Given the description of an element on the screen output the (x, y) to click on. 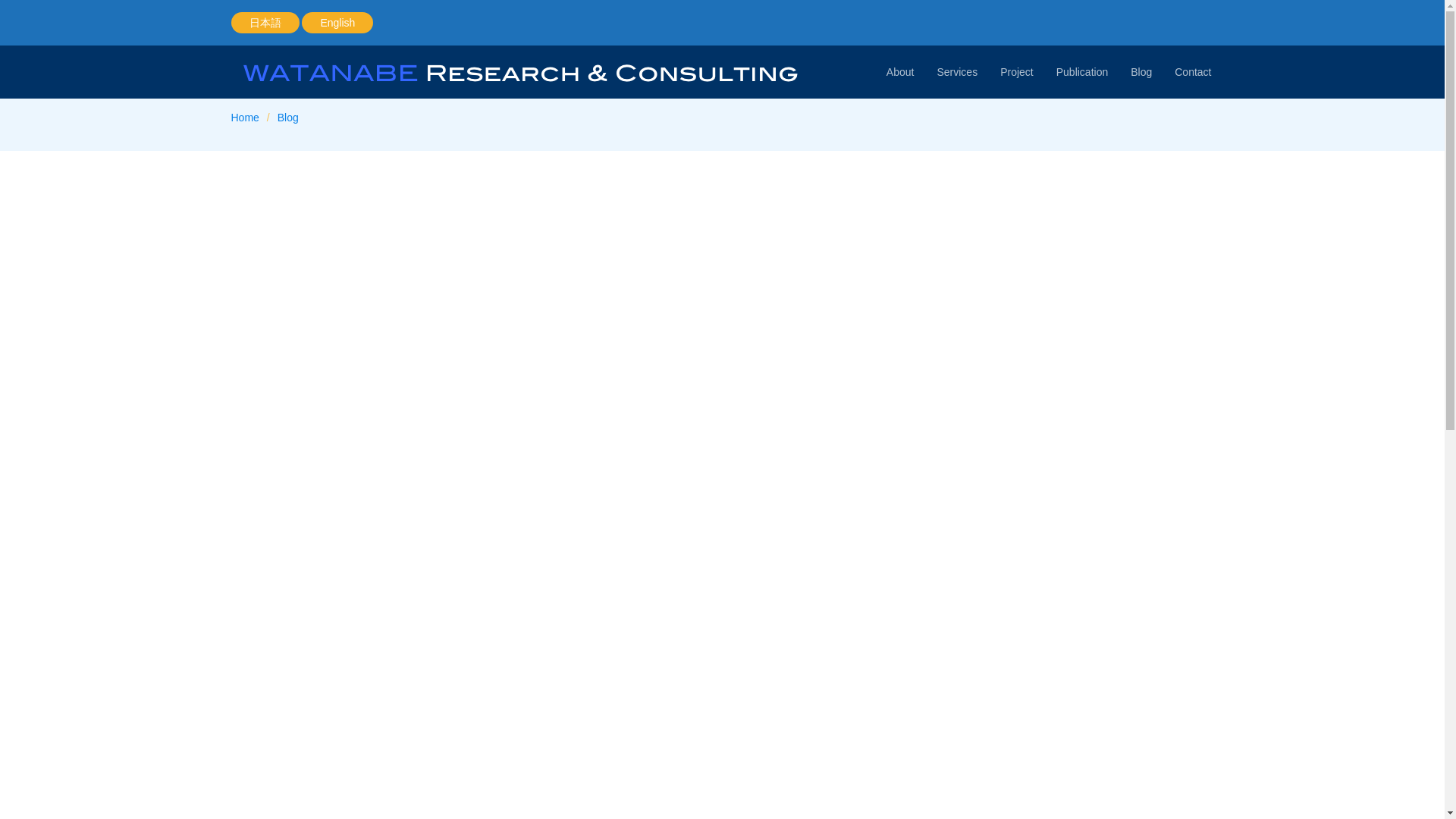
English (336, 22)
Search (961, 345)
Contact (1192, 71)
About (900, 71)
Services (956, 71)
Publication (1082, 71)
Project (1016, 71)
Blog (1141, 71)
Home (244, 117)
English (336, 22)
